Given the description of an element on the screen output the (x, y) to click on. 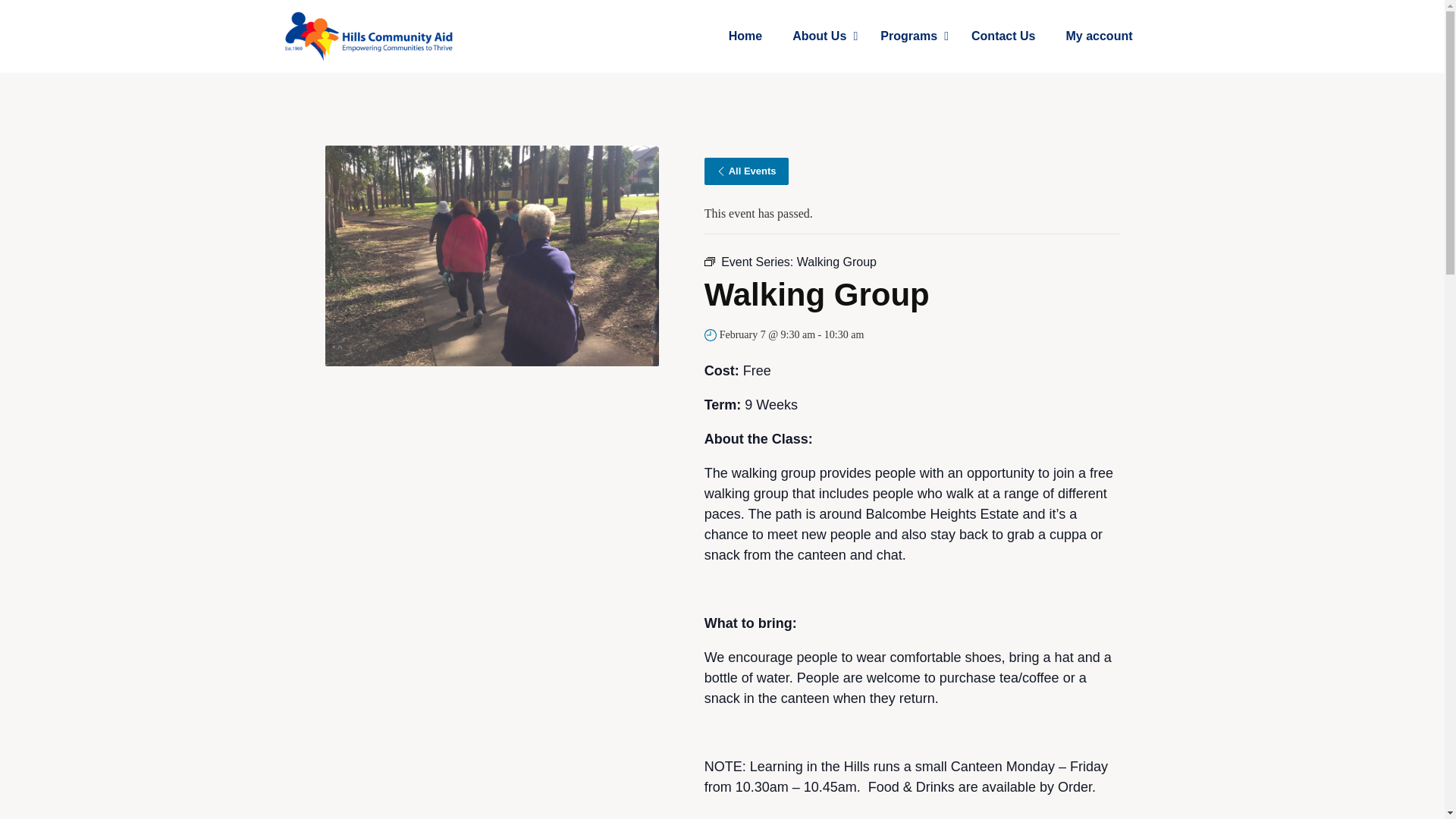
Contact Us (1002, 36)
Programs (910, 36)
All Events (746, 171)
Event Series (709, 261)
About Us (930, 36)
Home (820, 36)
My account (745, 36)
Walking Group (1098, 36)
